Given the description of an element on the screen output the (x, y) to click on. 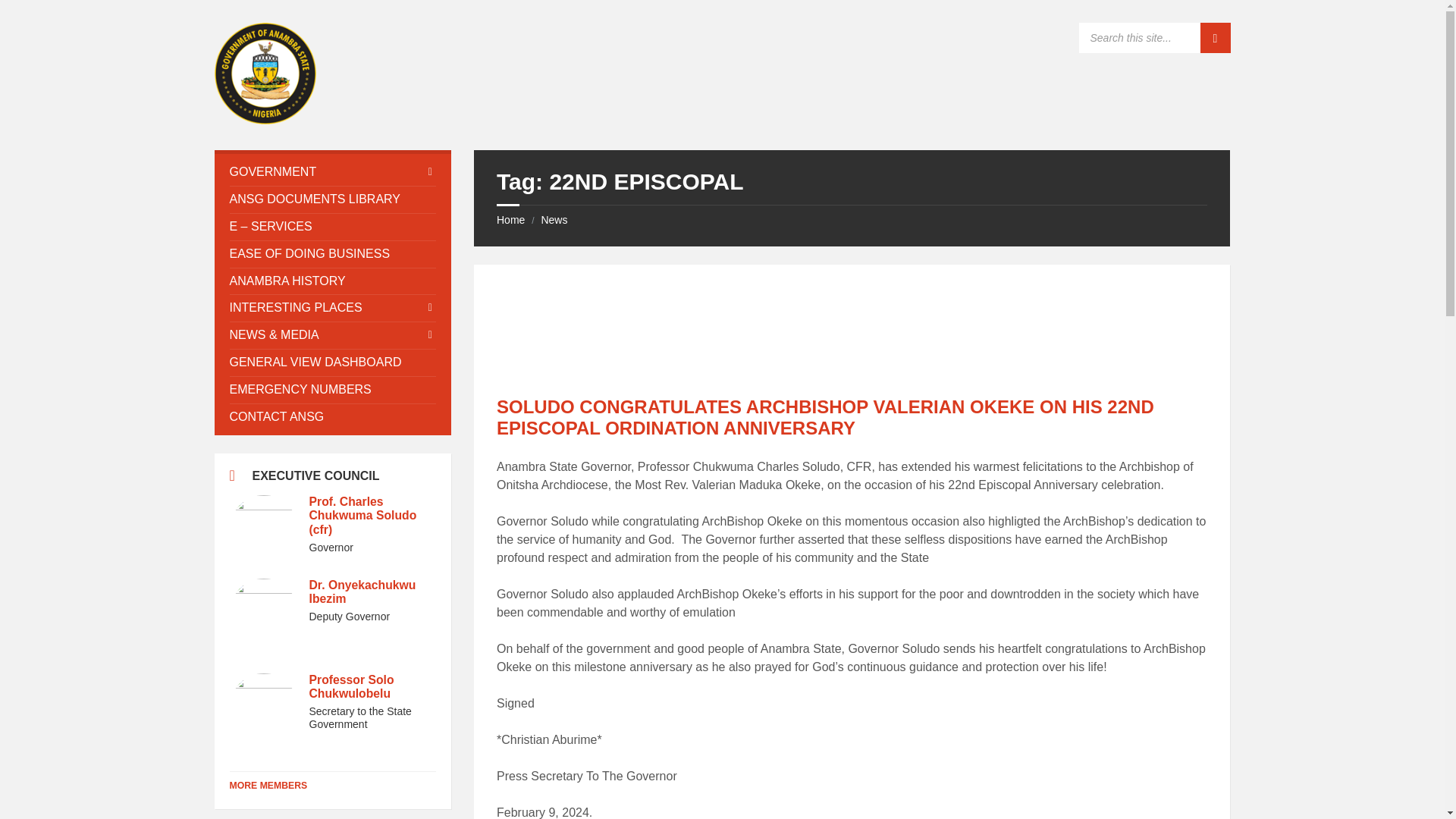
Home (510, 219)
ANSG DOCUMENTS LIBRARY (331, 199)
GOVERNMENT (331, 171)
Submit search (1214, 37)
News (553, 219)
